Given the description of an element on the screen output the (x, y) to click on. 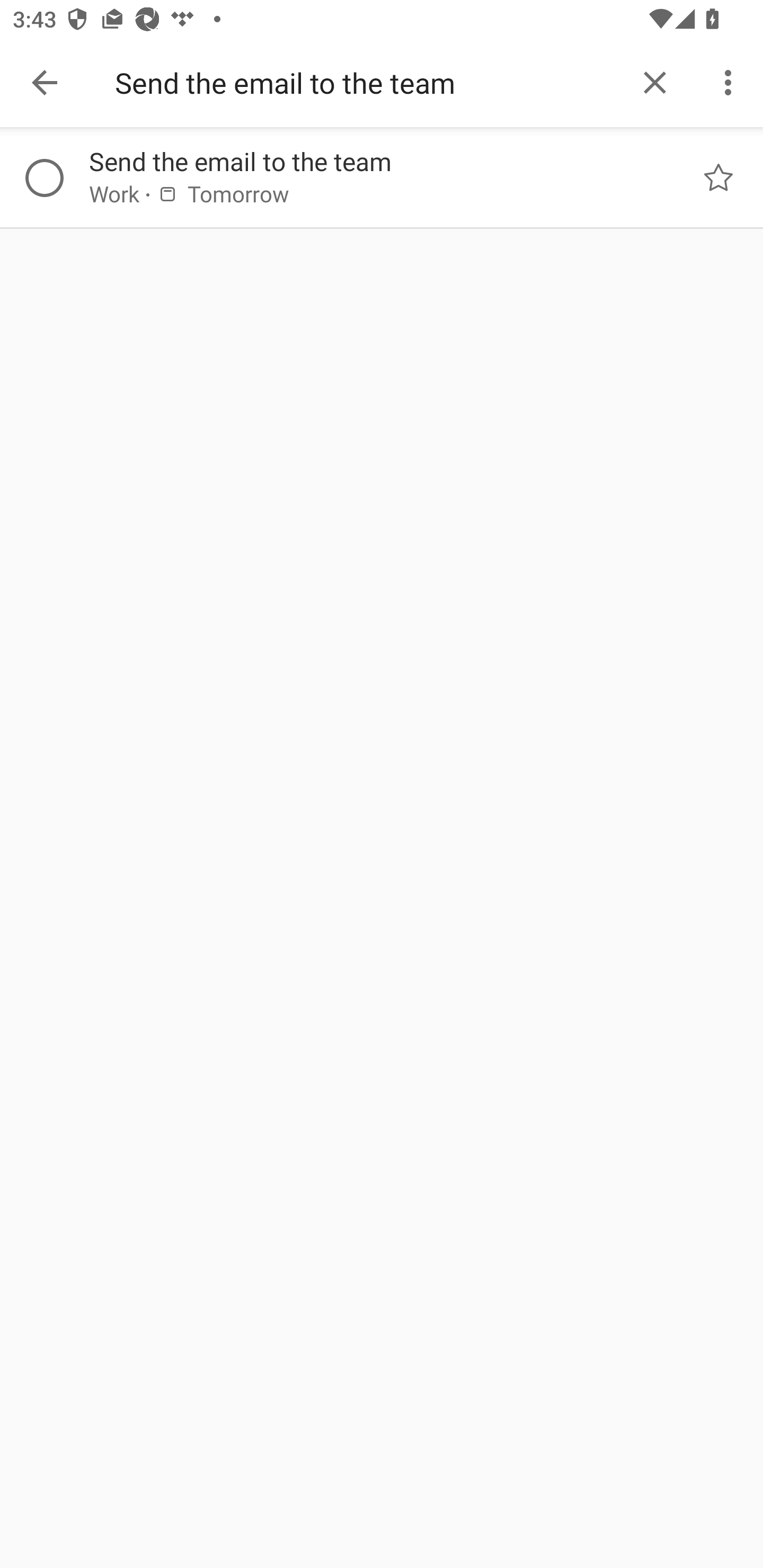
Incomplete task Send the email to the team, Button (44, 177)
